Given the description of an element on the screen output the (x, y) to click on. 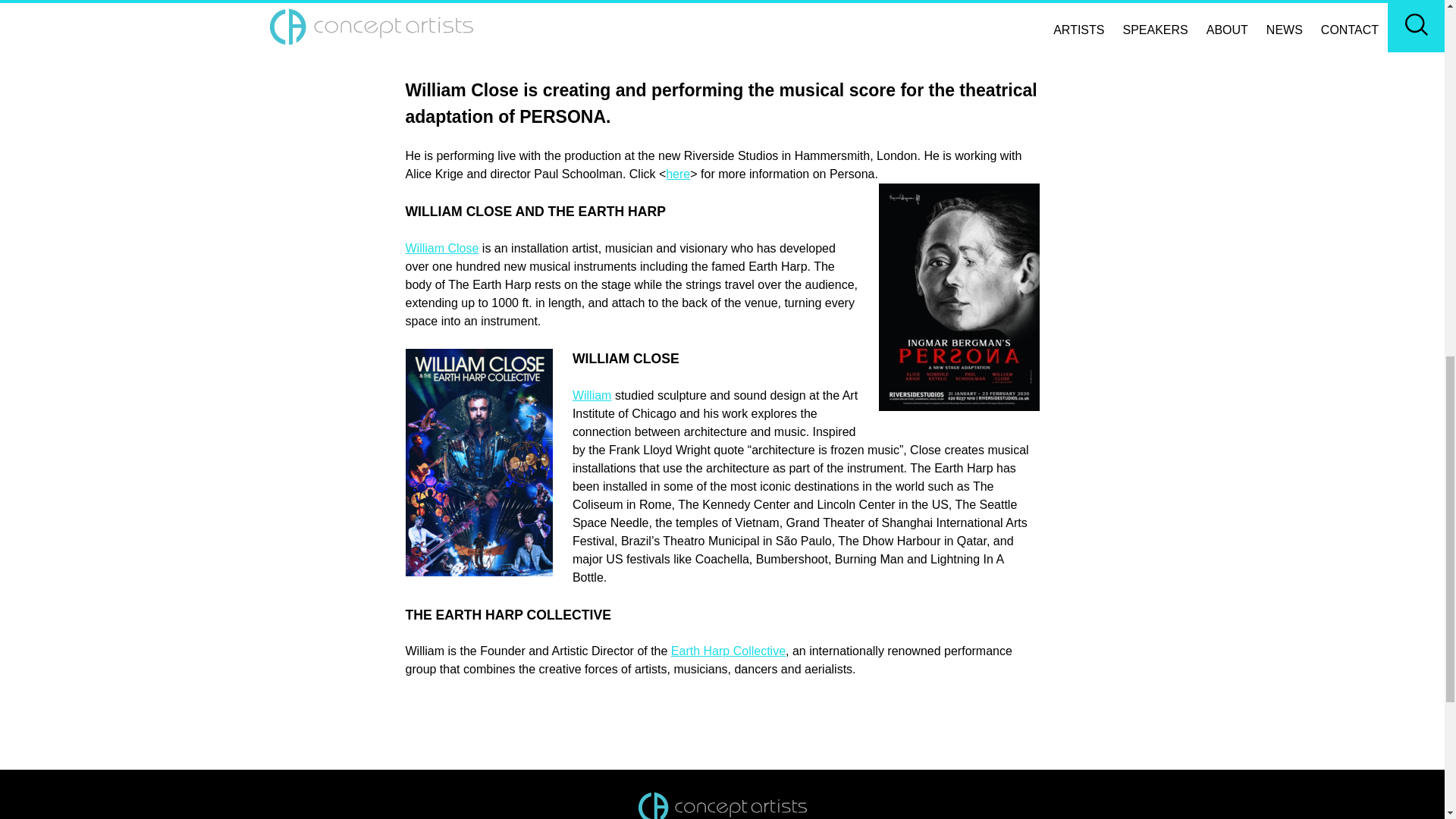
William Close (441, 247)
here (677, 173)
William (591, 395)
Earth Harp Collective (728, 650)
